Given the description of an element on the screen output the (x, y) to click on. 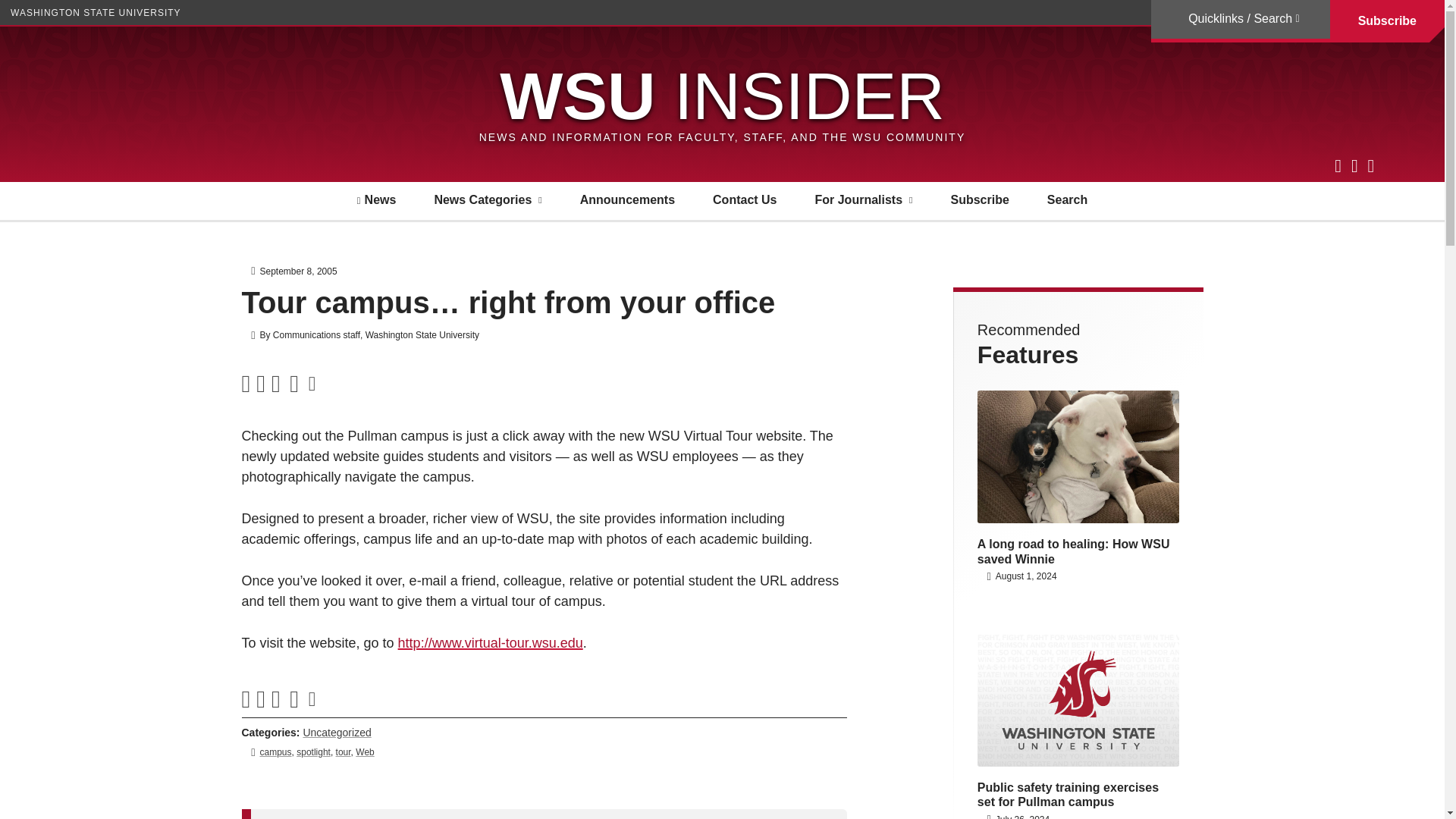
WASHINGTON STATE UNIVERSITY (96, 12)
